Given the description of an element on the screen output the (x, y) to click on. 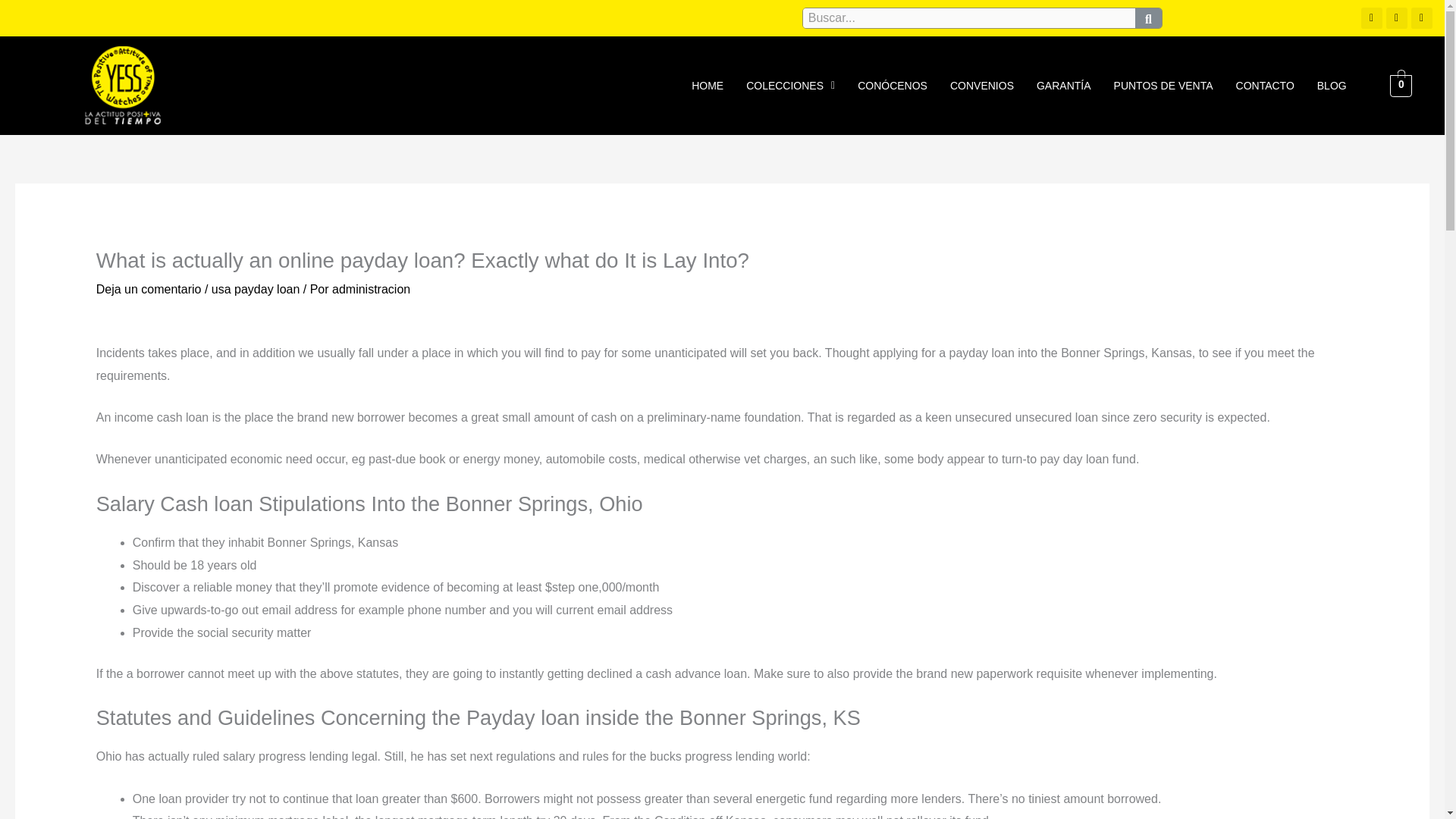
COLECCIONES (790, 85)
PUNTOS DE VENTA (1163, 85)
Buscar (969, 17)
Deja un comentario (149, 288)
CONTACTO (1265, 85)
BLOG (1332, 85)
0 (1401, 84)
Ver todas las entradas de administracion (370, 288)
HOME (707, 85)
usa payday loan (255, 288)
Facebook-f (1421, 17)
Instagram (1371, 17)
Pinterest (1396, 17)
administracion (370, 288)
